Given the description of an element on the screen output the (x, y) to click on. 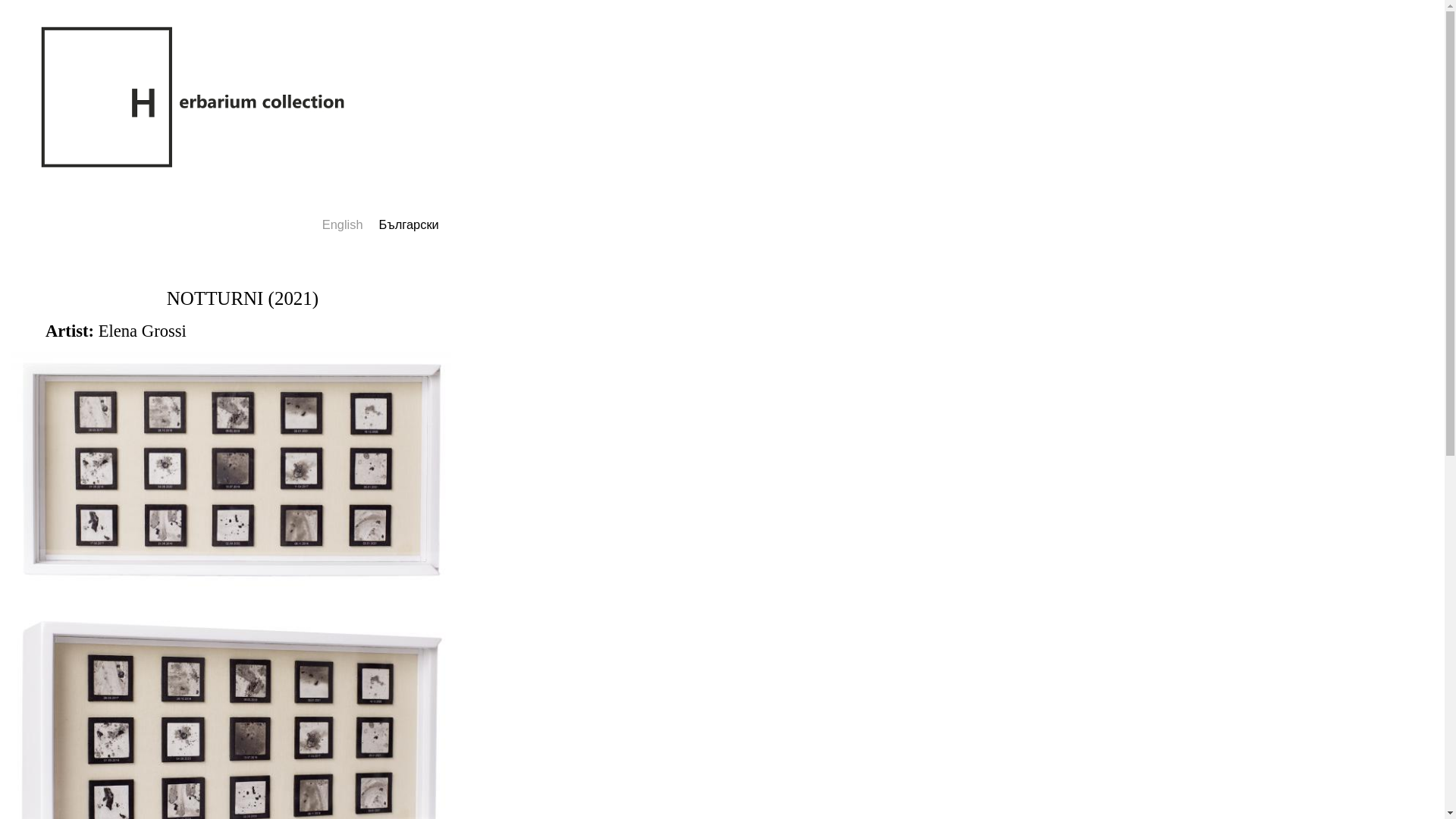
Home (194, 100)
Notturni 2 (231, 714)
Notturni 1 (231, 597)
English (341, 223)
Notturni 1 (231, 469)
